Given the description of an element on the screen output the (x, y) to click on. 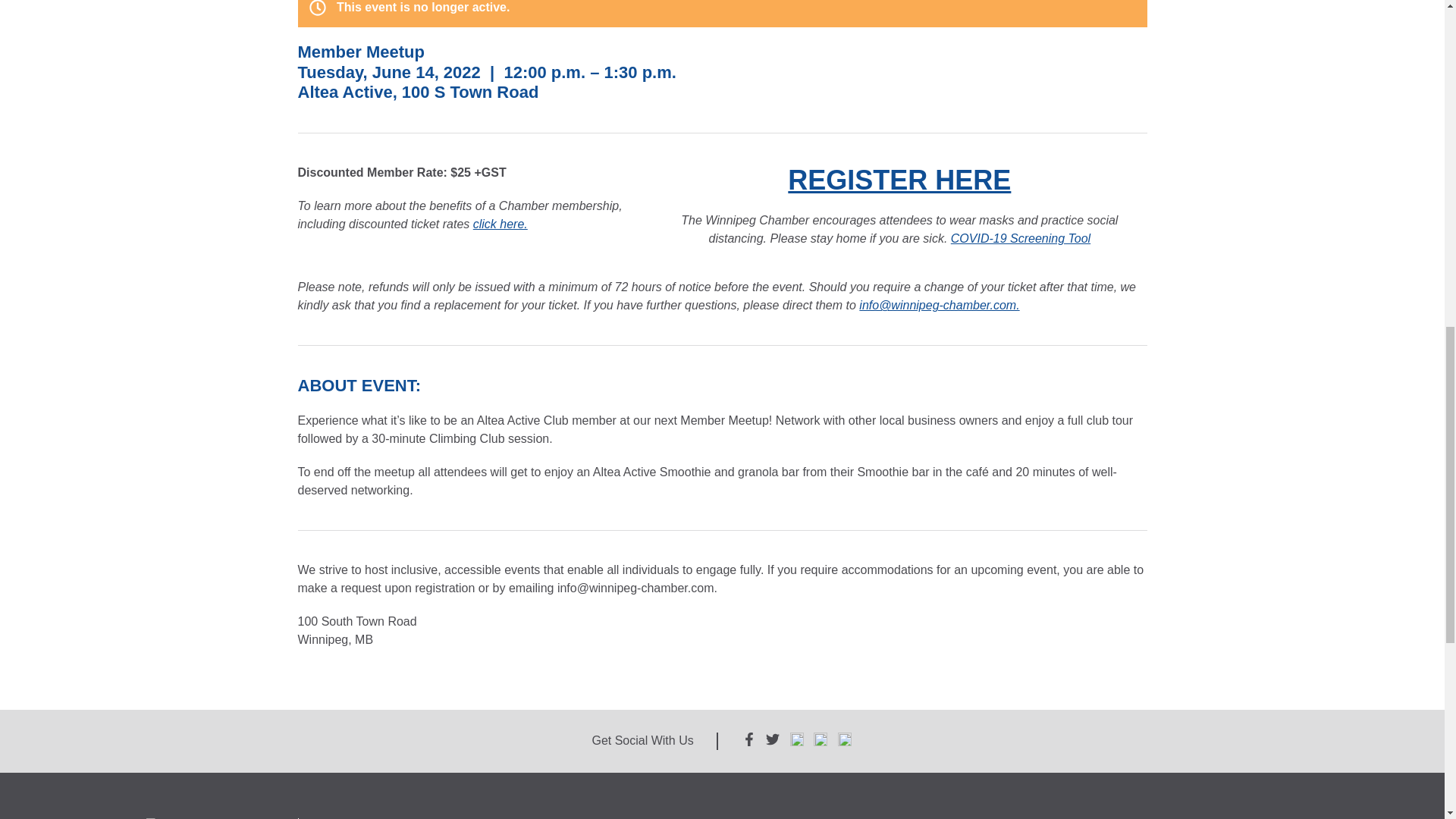
REGISTER HERE (898, 179)
COVID-19 Screening Tool (1020, 237)
click here. (500, 223)
